Given the description of an element on the screen output the (x, y) to click on. 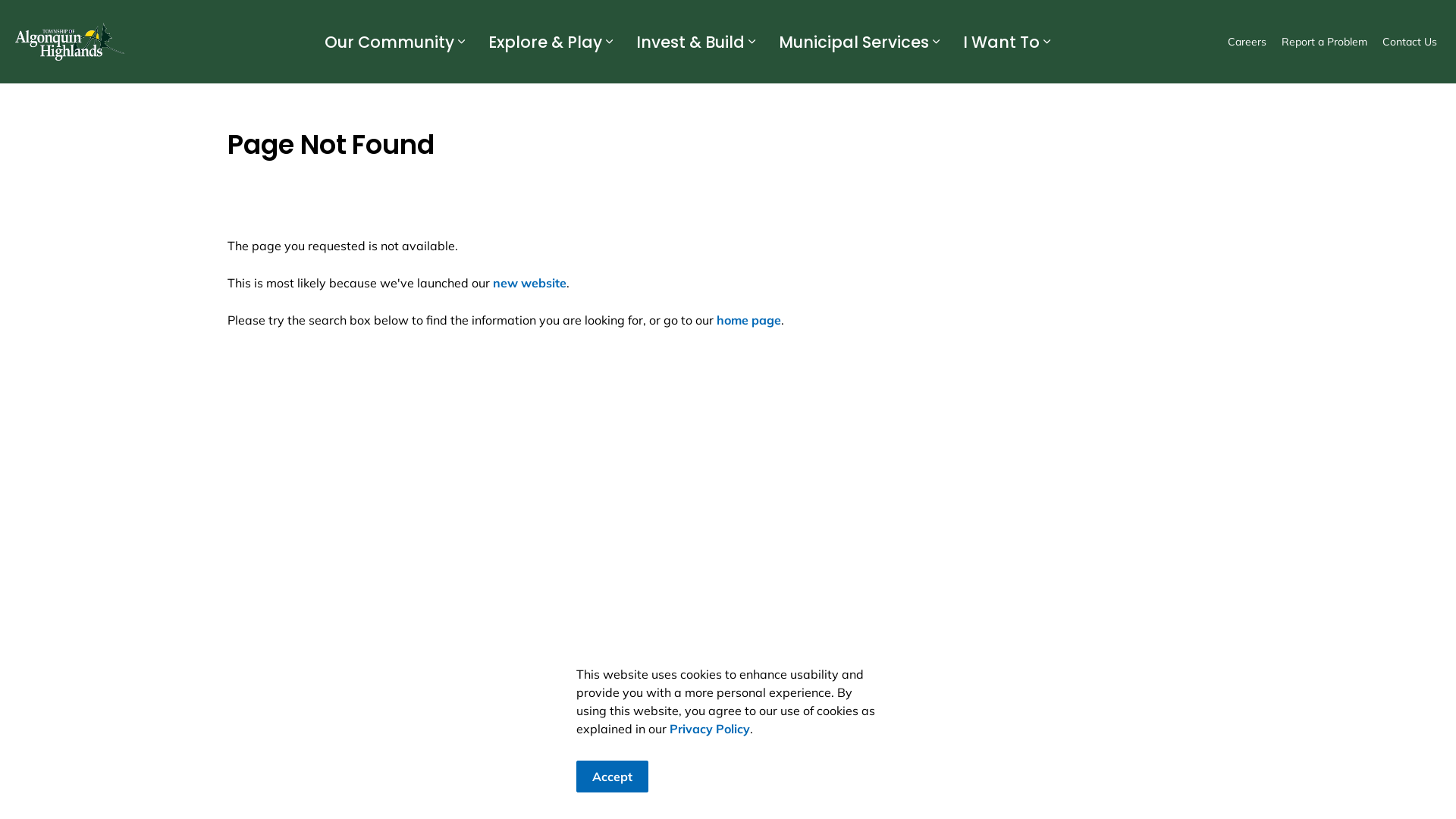
Invest & Build Element type: text (688, 41)
Explore & Play Element type: text (543, 41)
Privacy Policy Element type: text (709, 728)
Report a Problem Element type: text (1324, 41)
home page Element type: text (748, 319)
I Want To Element type: text (999, 41)
new website Element type: text (529, 282)
Municipal Services Element type: text (851, 41)
Accept Element type: text (612, 776)
Careers Element type: text (1247, 41)
Our Community Element type: text (387, 41)
Contact Us Element type: text (1409, 41)
Algonquin Highlands Element type: hover (69, 41)
